Given the description of an element on the screen output the (x, y) to click on. 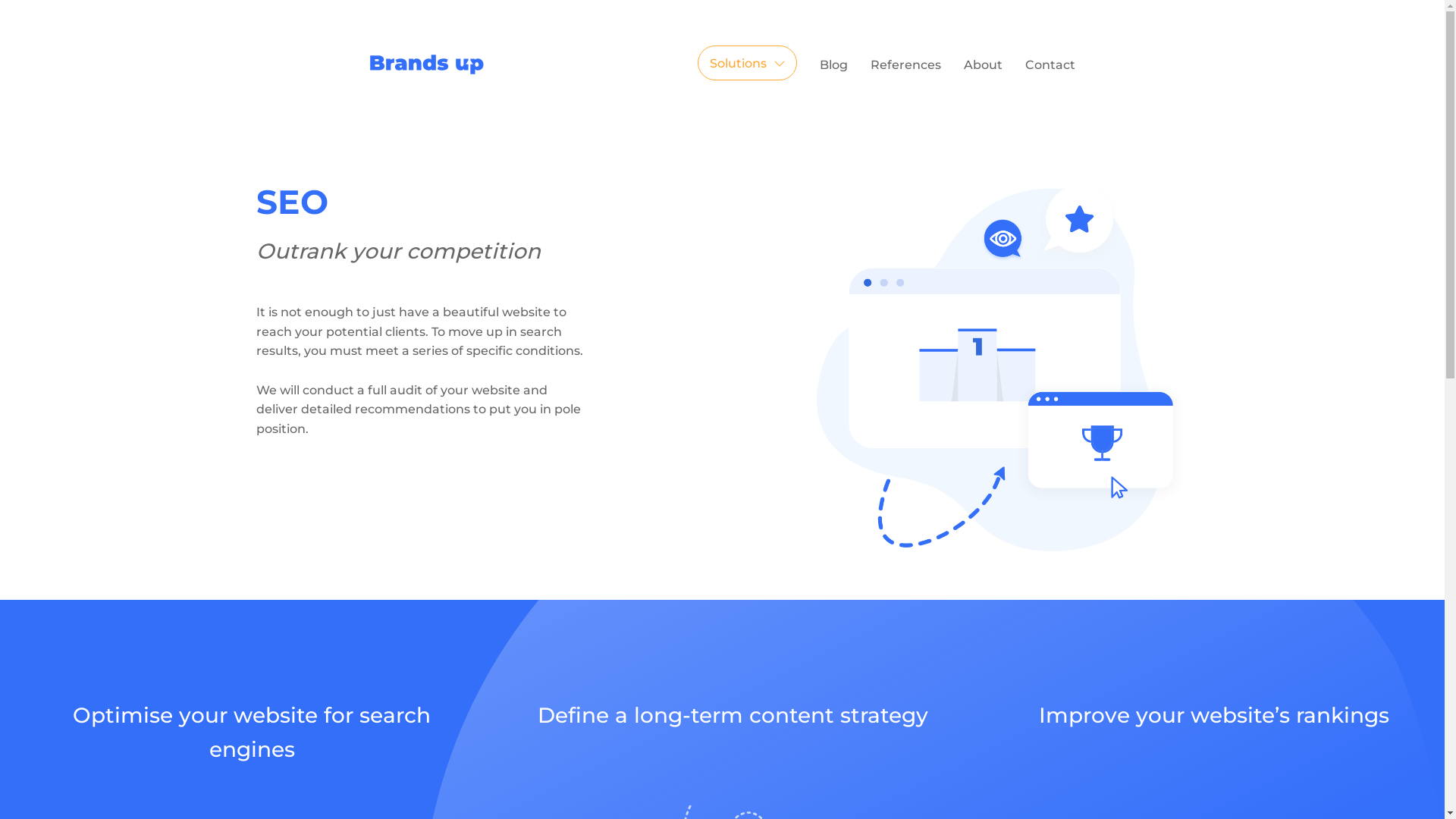
Blog Element type: text (833, 64)
About Element type: text (982, 64)
Contact Element type: text (1050, 64)
References Element type: text (905, 64)
